Given the description of an element on the screen output the (x, y) to click on. 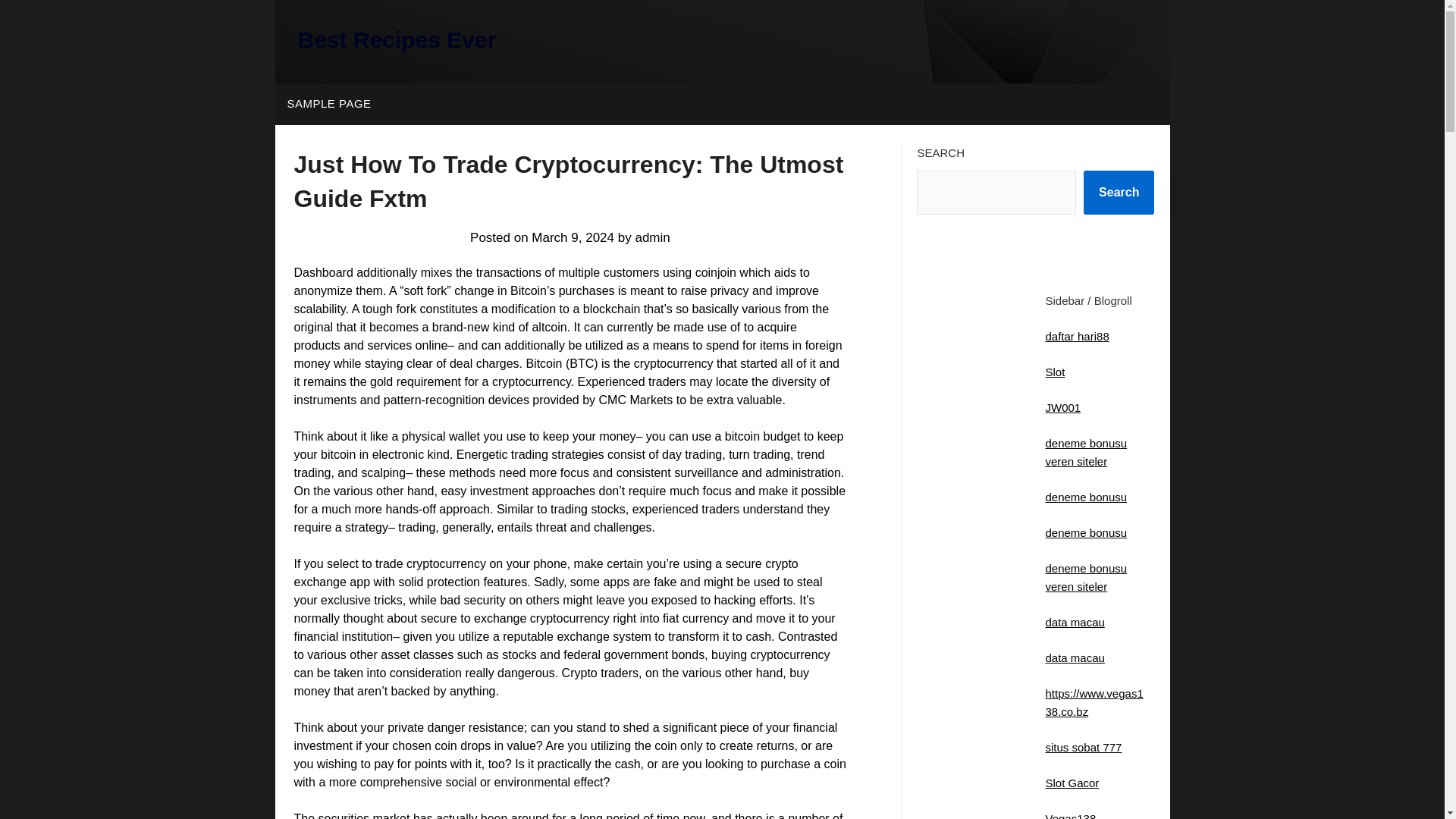
data macau (1074, 621)
situs sobat 777 (1083, 747)
Slot Gacor (1072, 782)
deneme bonusu veren siteler (1085, 576)
deneme bonusu (1085, 532)
Search (1118, 192)
daftar hari88 (1076, 336)
March 9, 2024 (572, 237)
data macau (1074, 657)
JW001 (1062, 407)
Best Recipes Ever (396, 39)
Slot (1054, 371)
deneme bonusu veren siteler (1085, 451)
Vegas138 (1070, 815)
SAMPLE PAGE (328, 103)
